Given the description of an element on the screen output the (x, y) to click on. 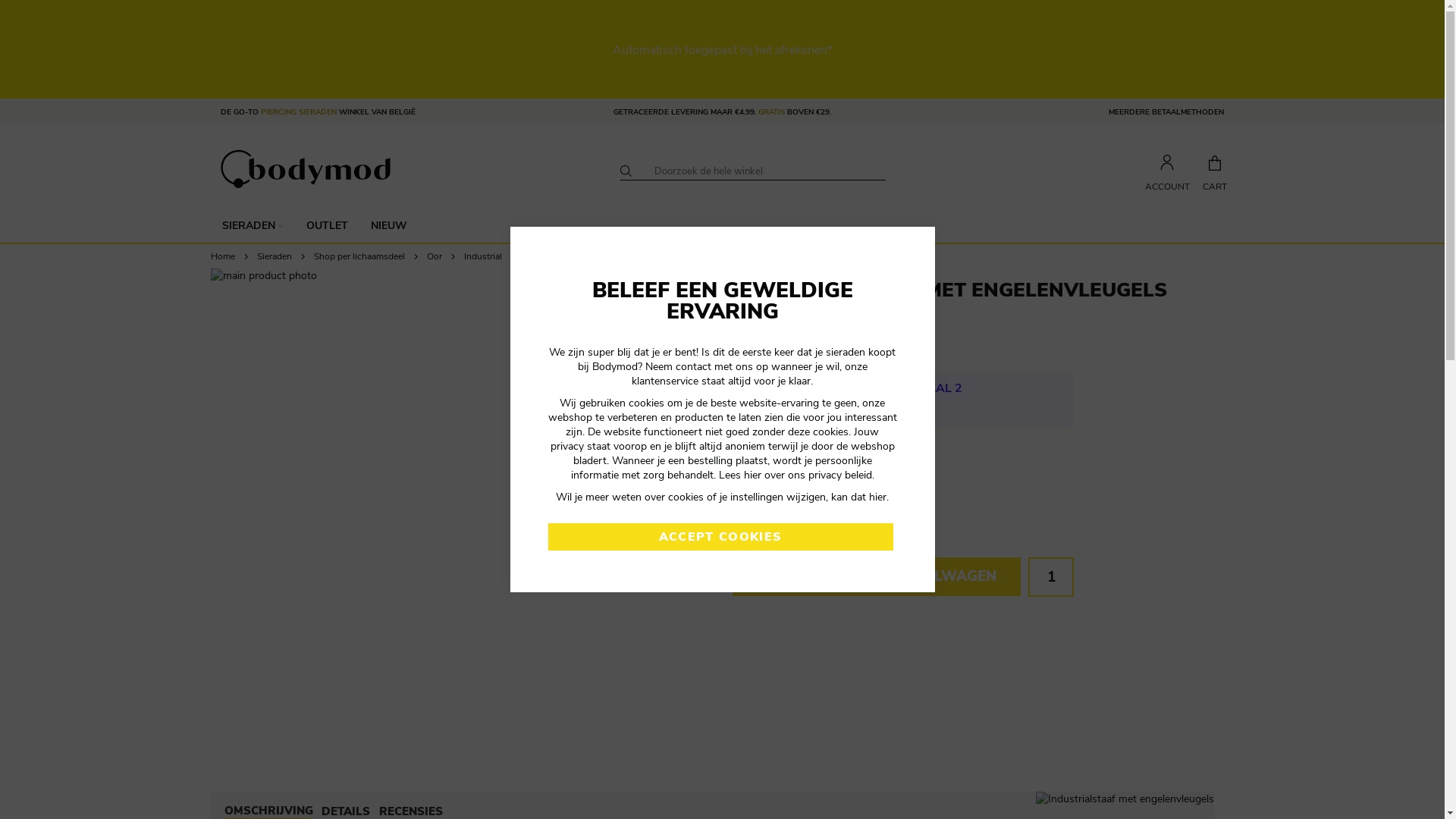
Ga naar het einde van de afbeeldingen-gallerij Element type: text (209, 267)
Bodymod Element type: hover (305, 168)
Home Element type: text (222, 256)
hier Element type: text (877, 496)
NIEUW Element type: text (388, 225)
hier Element type: text (751, 474)
ACCOUNT Element type: text (1166, 171)
ACCEPT COOKIES Element type: text (719, 536)
SIERADEN Element type: text (252, 225)
Shop per lichaamsdeel Element type: text (358, 256)
Oor Element type: text (433, 256)
Zoek Element type: hover (625, 170)
TOEVOEGEN AAN WINKELWAGEN Element type: text (876, 576)
OUTLET Element type: text (326, 225)
Ga naar het begin van de afbeeldingen-gallerij Element type: text (209, 750)
Industrial Element type: text (483, 256)
Aantal Element type: hover (1050, 576)
klantenservice Element type: text (664, 380)
